Given the description of an element on the screen output the (x, y) to click on. 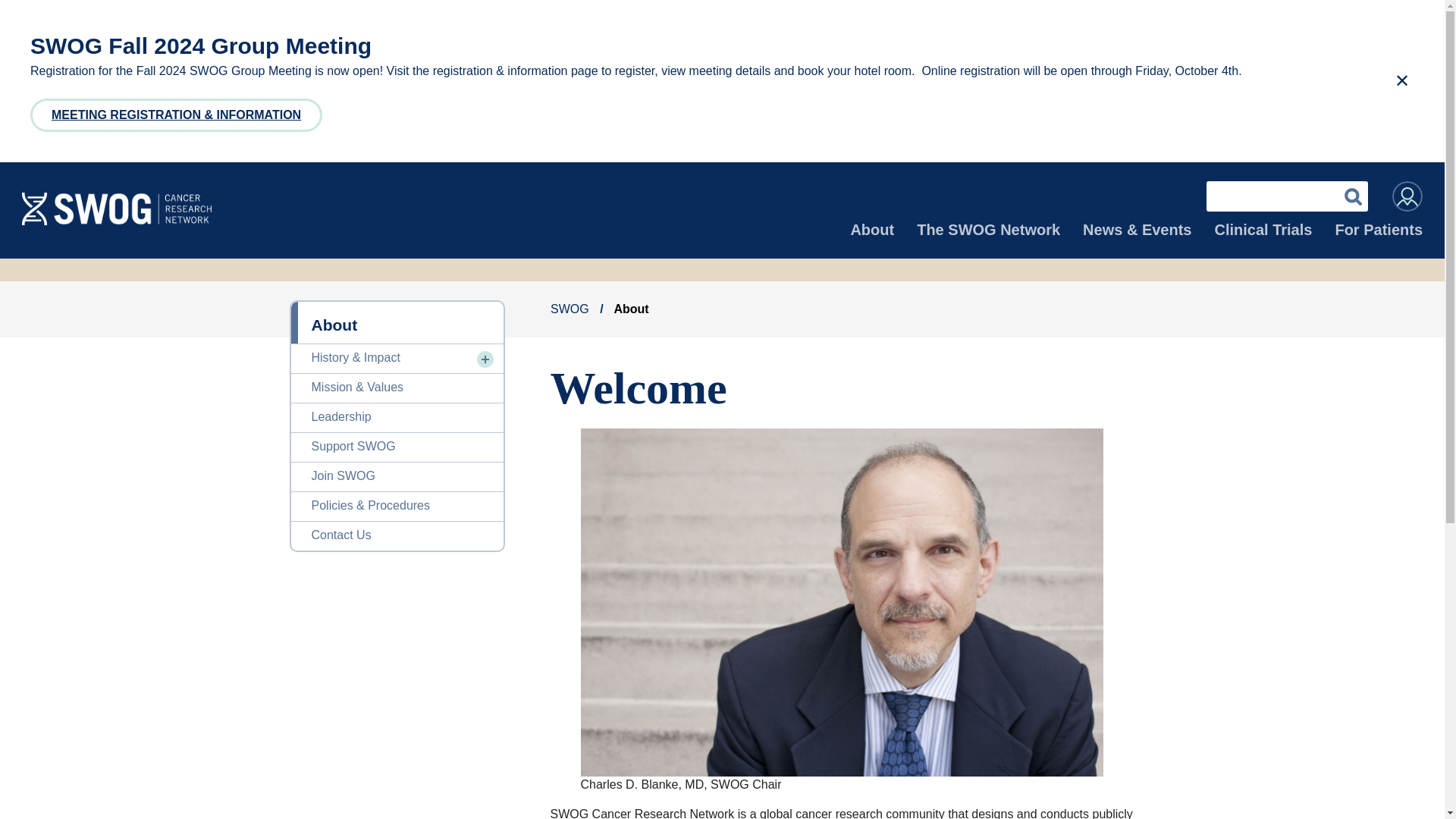
Clinical Trials (1262, 238)
Log in (1406, 195)
Search (1353, 195)
About (871, 238)
The SWOG Network (988, 238)
For Patients (1378, 238)
Search (1353, 195)
